Given the description of an element on the screen output the (x, y) to click on. 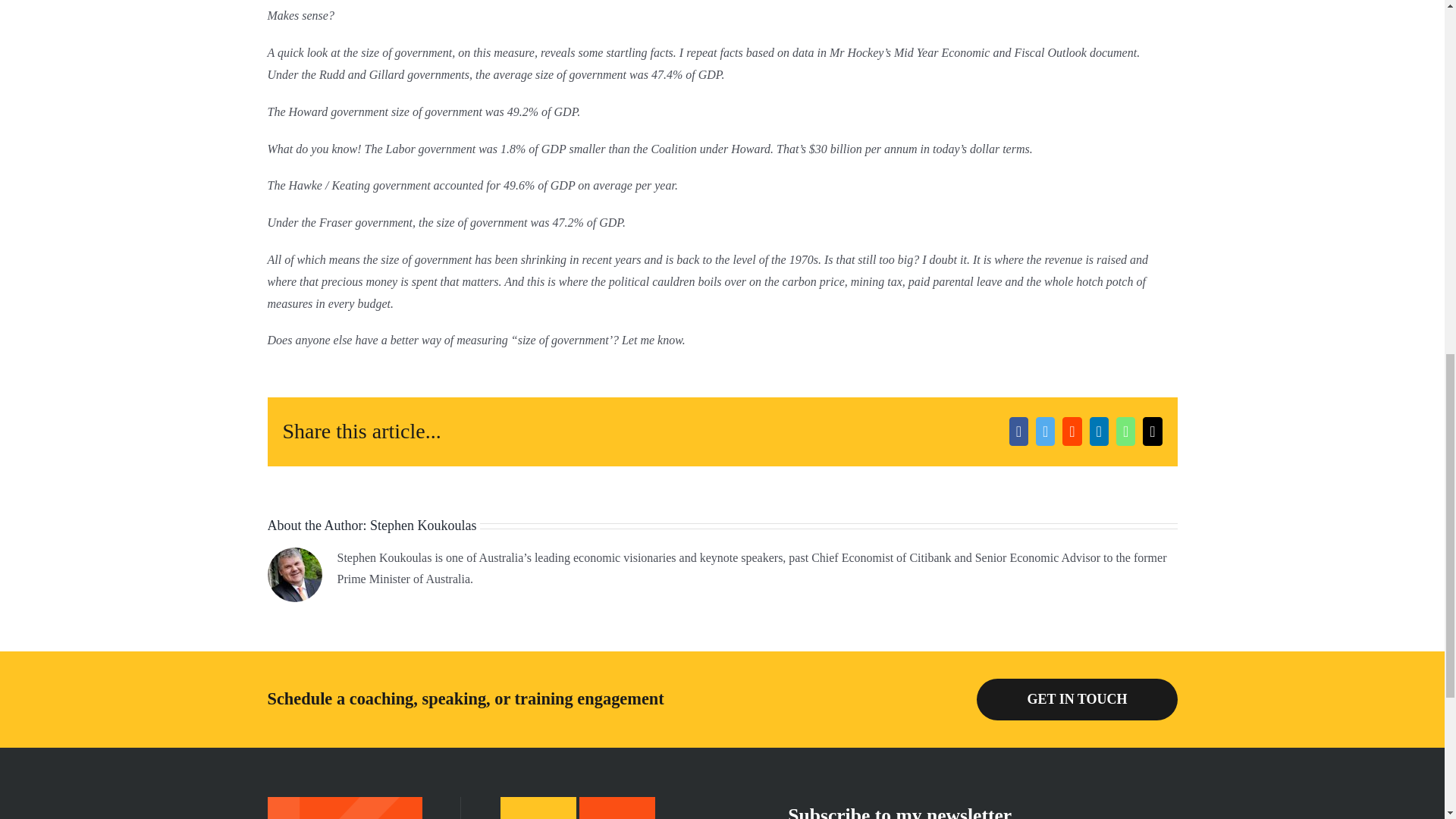
Posts by Stephen Koukoulas (422, 525)
